Given the description of an element on the screen output the (x, y) to click on. 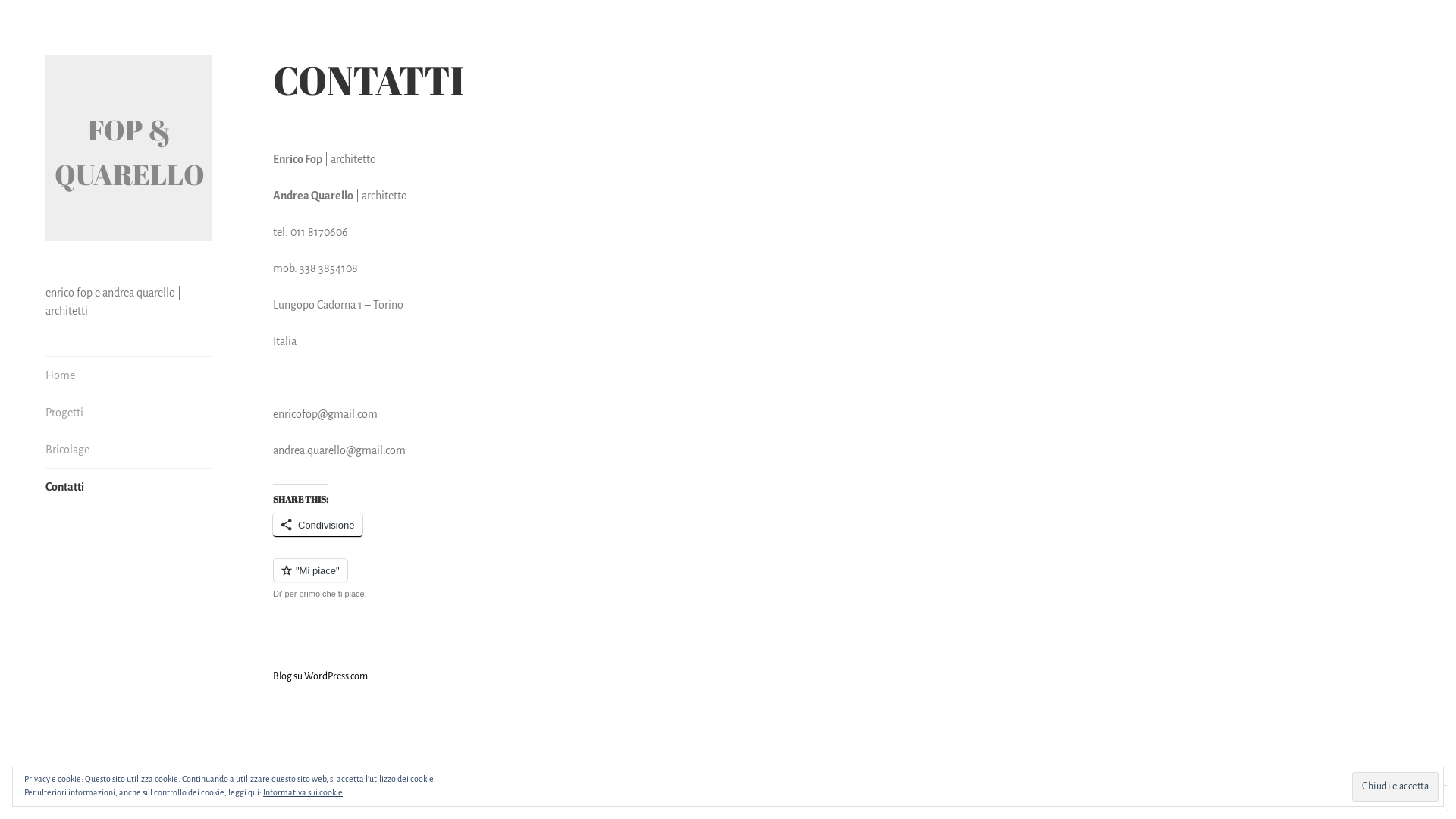
Segui Element type: text (1386, 797)
Blog su WordPress.com. Element type: text (321, 676)
Metti Mi piace o ripubblica Element type: hover (515, 578)
Home Element type: text (128, 375)
Bricolage Element type: text (128, 449)
FOP & QUARELLO Element type: text (129, 151)
Chiudi e accetta Element type: text (1395, 786)
Progetti Element type: text (128, 412)
Condivisione Element type: text (317, 524)
Contatti Element type: text (128, 486)
Informativa sui cookie Element type: text (302, 792)
